Given the description of an element on the screen output the (x, y) to click on. 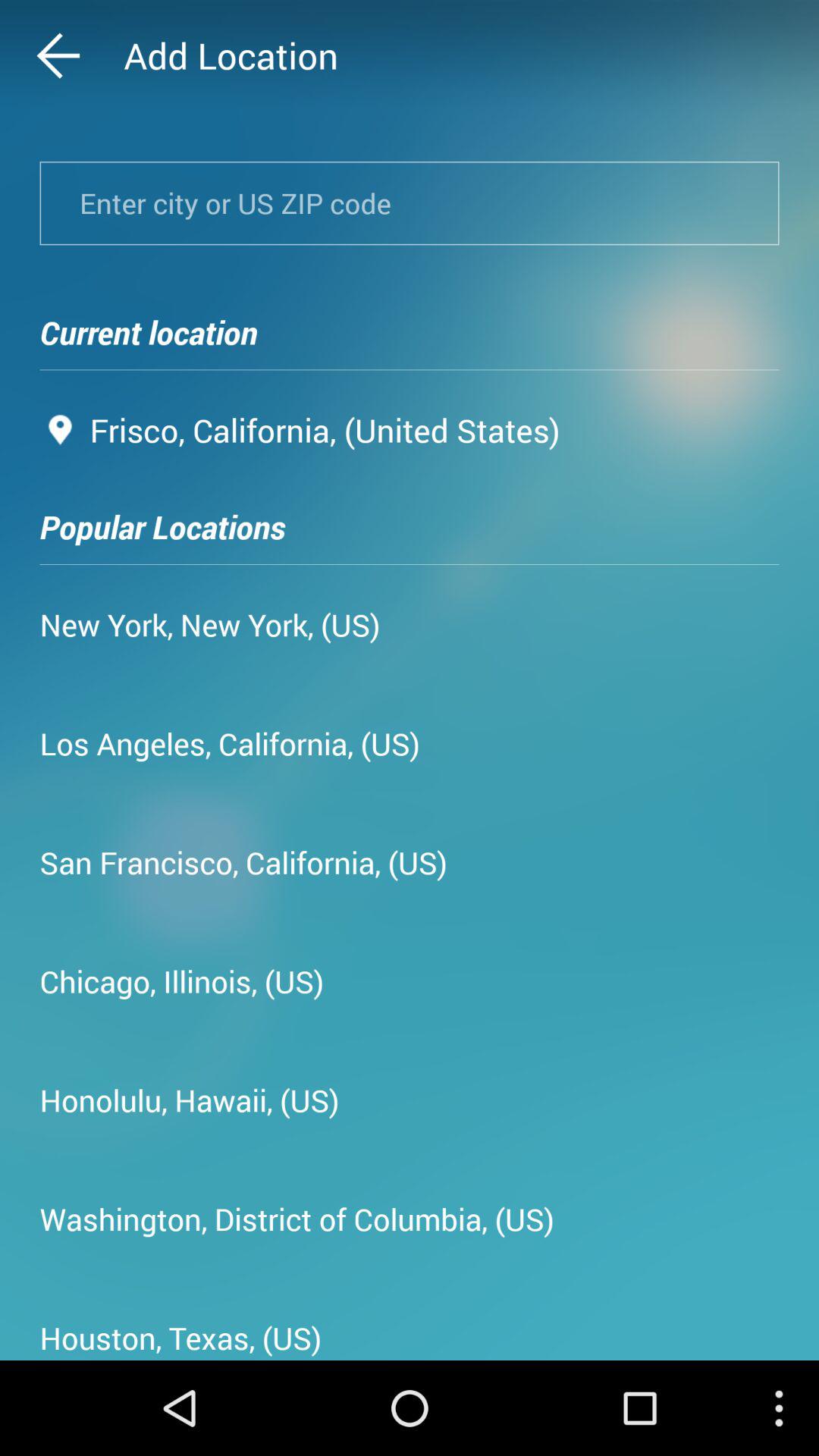
press app below the chicago, illinois, (us) item (189, 1099)
